Given the description of an element on the screen output the (x, y) to click on. 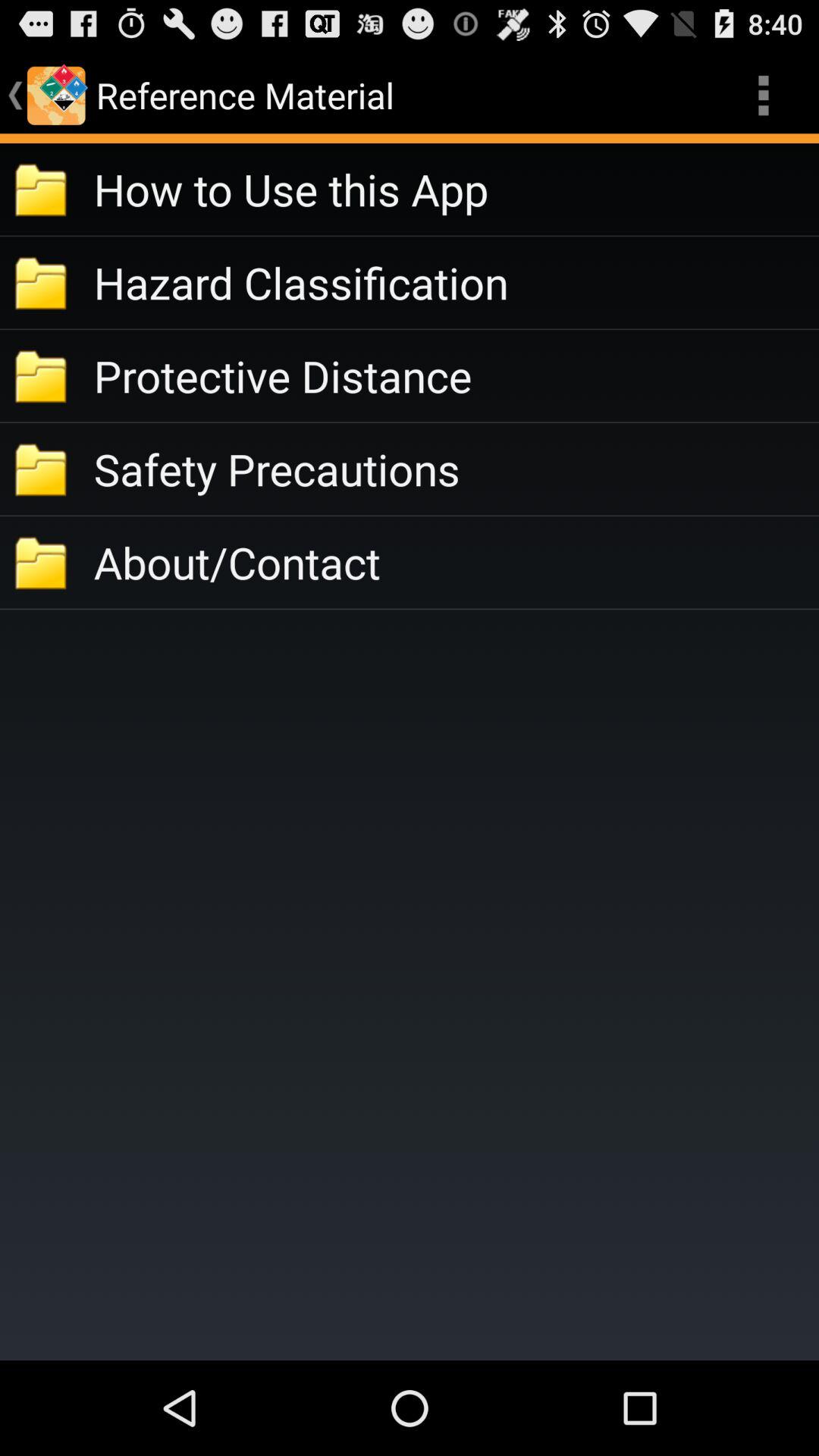
turn on safety precautions (456, 469)
